Given the description of an element on the screen output the (x, y) to click on. 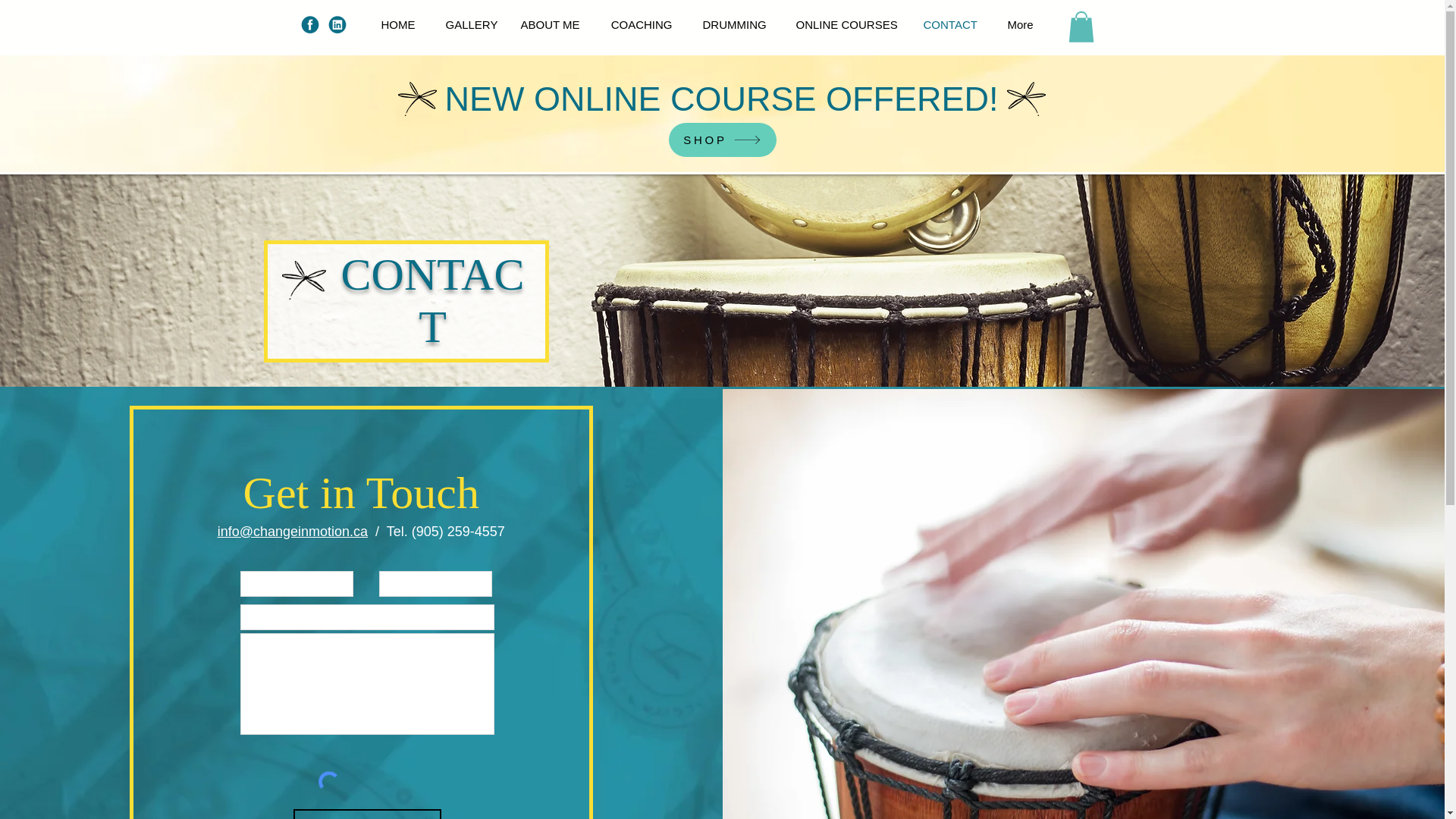
HOME (397, 24)
SHOP (722, 139)
ABOUT ME (548, 24)
ONLINE COURSES (844, 24)
COACHING (639, 24)
Submit (367, 814)
DRUMMING (733, 24)
Darias-Dragonfly.gif.gif (304, 280)
GALLERY (467, 24)
CONTACT (950, 24)
